Given the description of an element on the screen output the (x, y) to click on. 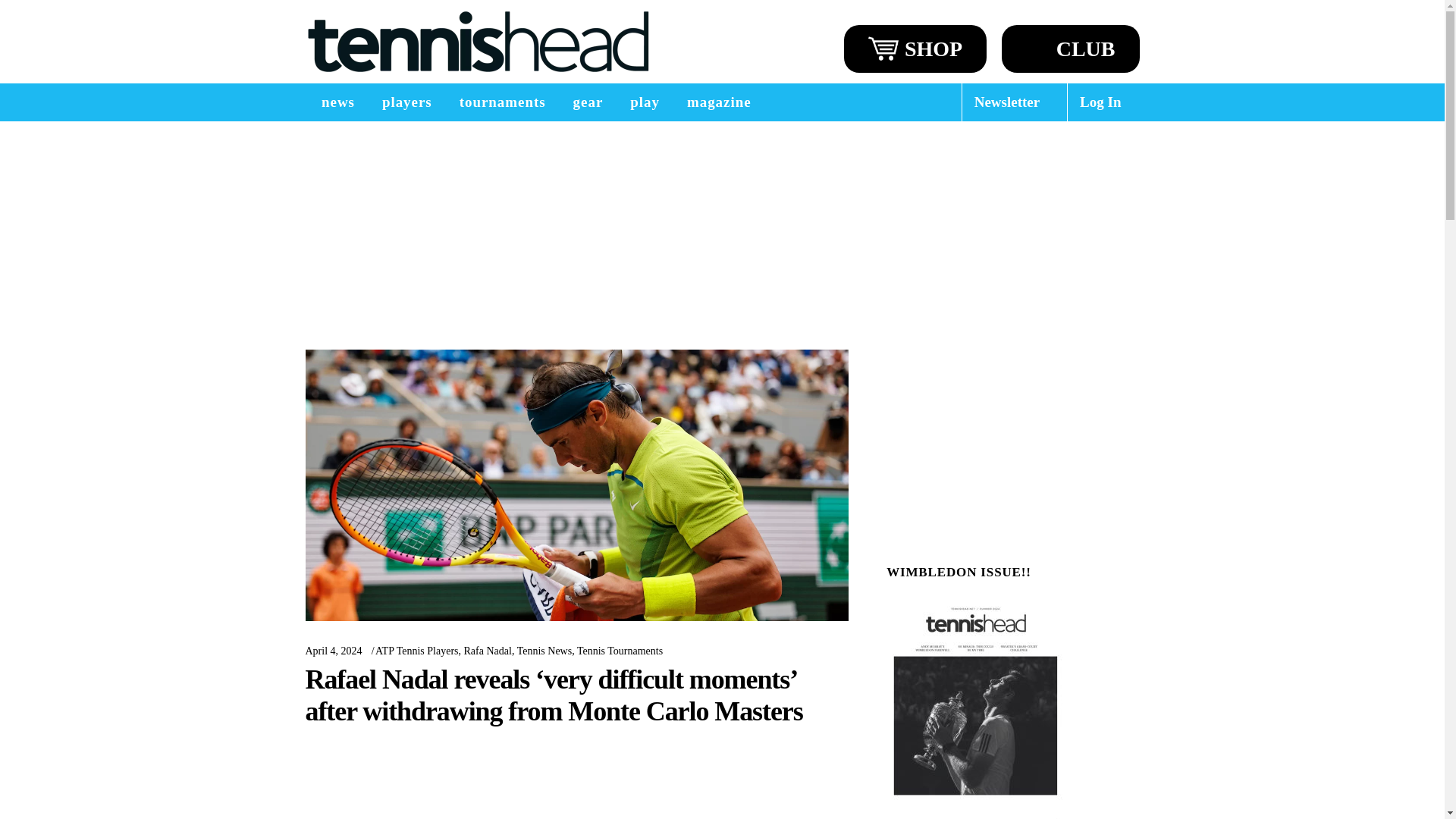
gear (588, 102)
tournaments (502, 102)
SHOP (915, 48)
CLUB (1070, 48)
players (406, 102)
play (643, 102)
news (337, 102)
